Given the description of an element on the screen output the (x, y) to click on. 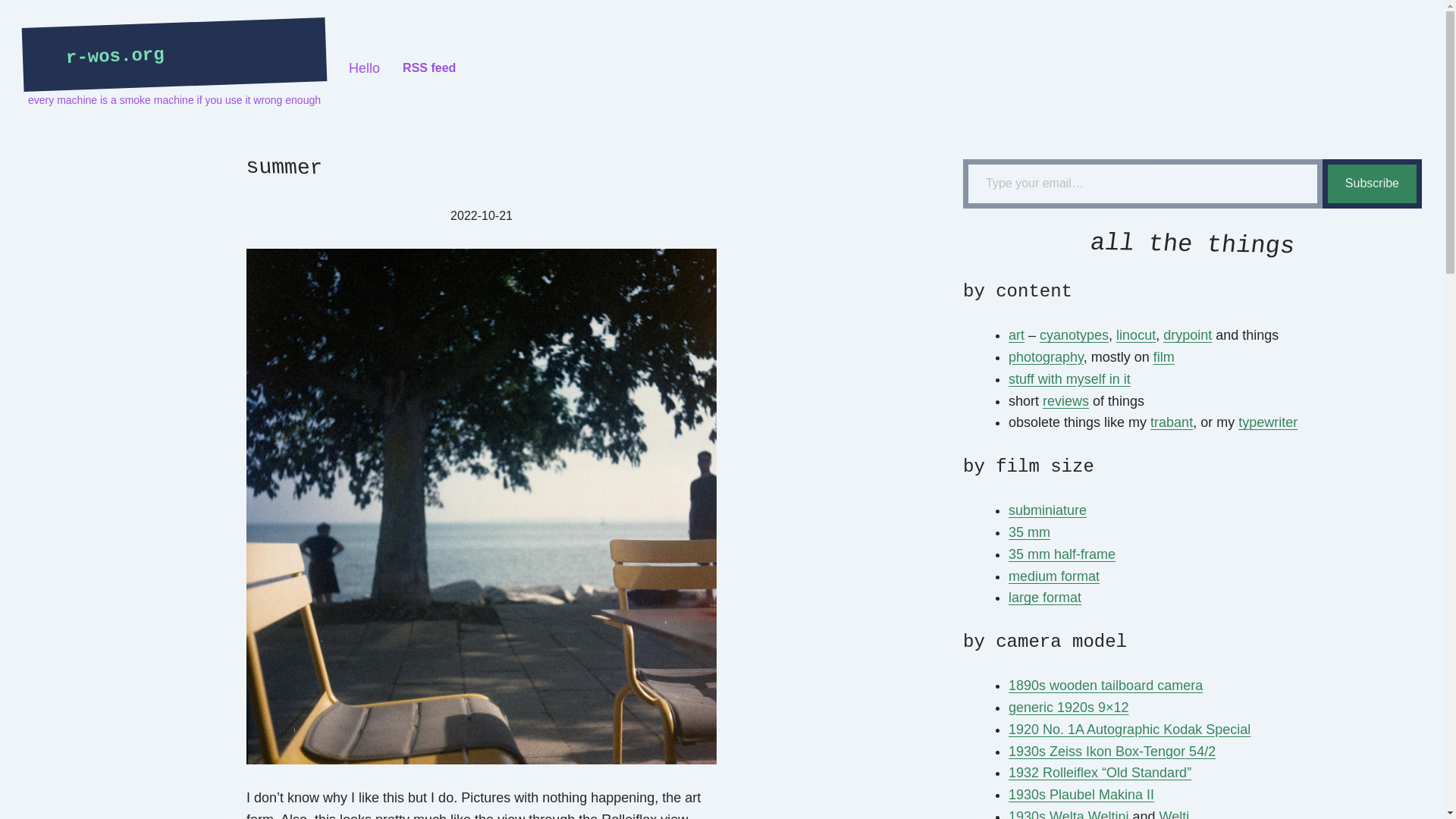
linocut (1136, 335)
large format (1045, 597)
reviews (1065, 400)
Please fill in this field. (1142, 183)
trabant (1171, 421)
35 mm (1029, 531)
subminiature (1047, 509)
Subscribe (1372, 183)
stuff with myself in it (1070, 378)
1890s wooden tailboard camera (1105, 685)
